Given the description of an element on the screen output the (x, y) to click on. 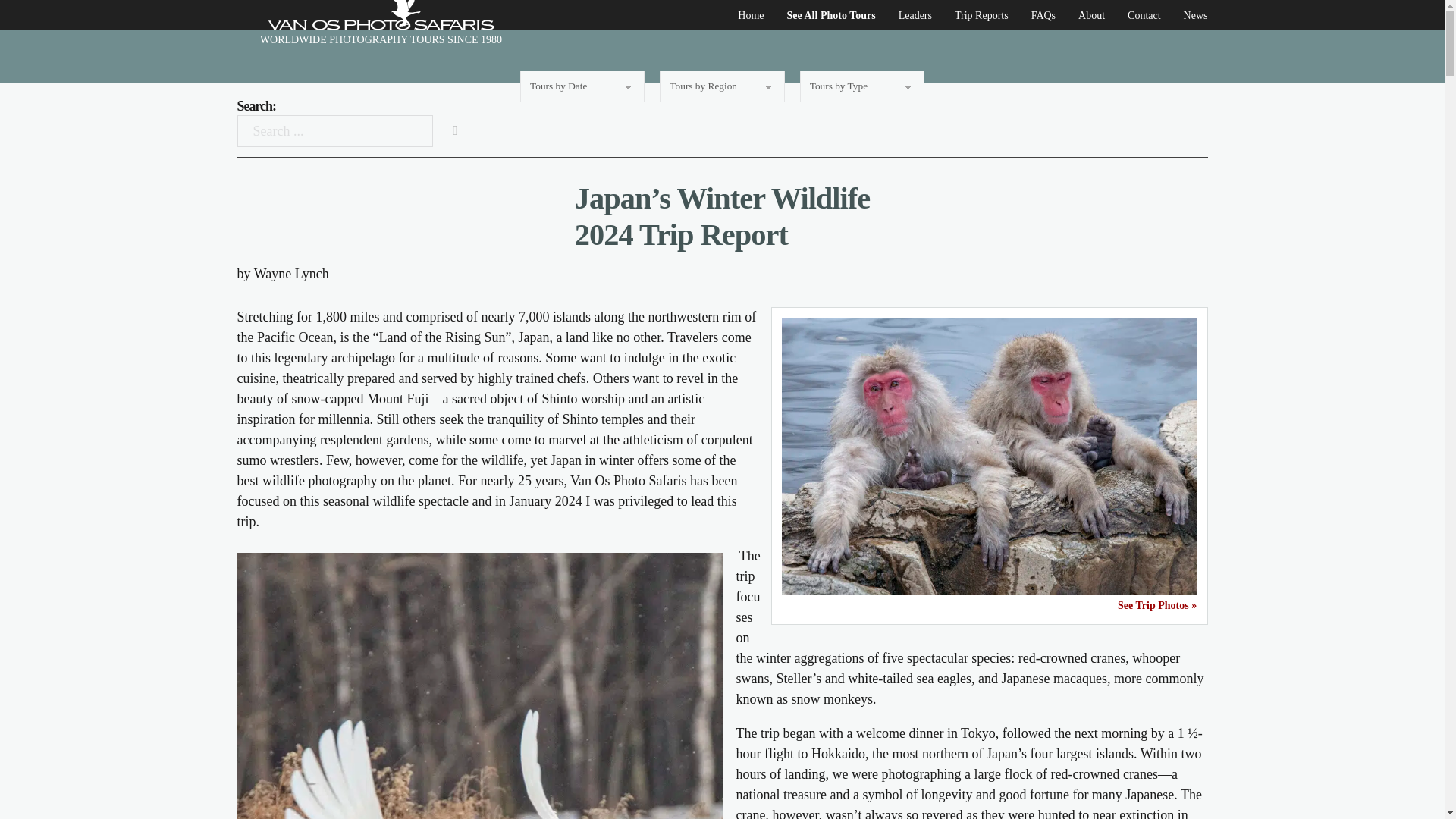
See All Photo Tours (831, 15)
Leaders (914, 15)
About (1091, 15)
FAQs (1042, 15)
Contact (1143, 15)
Trip Reports (982, 15)
Home (750, 15)
News (1195, 15)
